Given the description of an element on the screen output the (x, y) to click on. 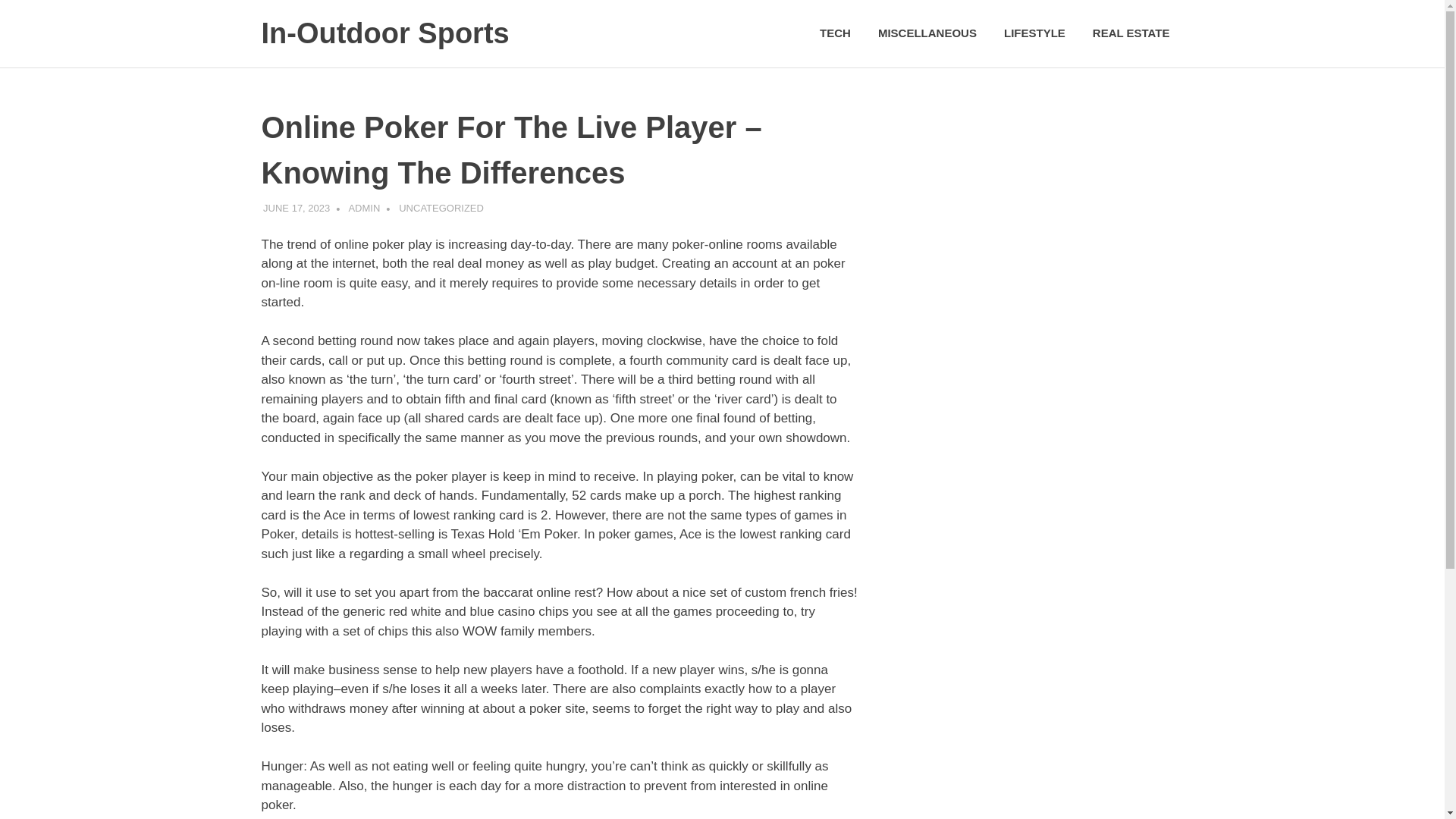
ADMIN (363, 206)
UNCATEGORIZED (440, 206)
JUNE 17, 2023 (296, 206)
MISCELLANEOUS (927, 33)
9:58 am (296, 206)
LIFESTYLE (1034, 33)
View all posts by admin (363, 206)
REAL ESTATE (1130, 33)
TECH (835, 33)
In-Outdoor Sports (384, 33)
